Given the description of an element on the screen output the (x, y) to click on. 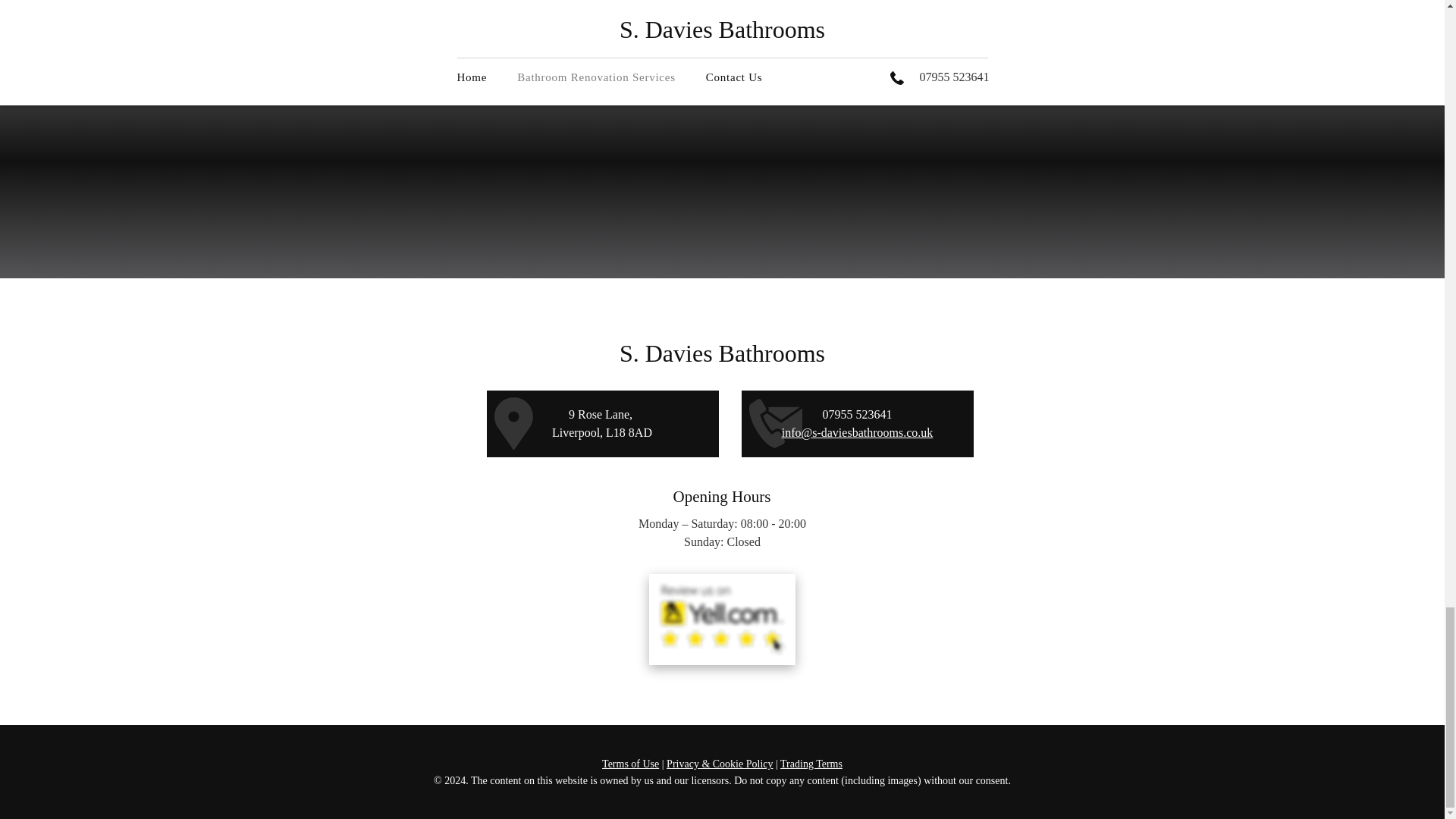
S. Davies Bathrooms (722, 352)
Terms of Use (630, 763)
Trading Terms (811, 763)
